Given the description of an element on the screen output the (x, y) to click on. 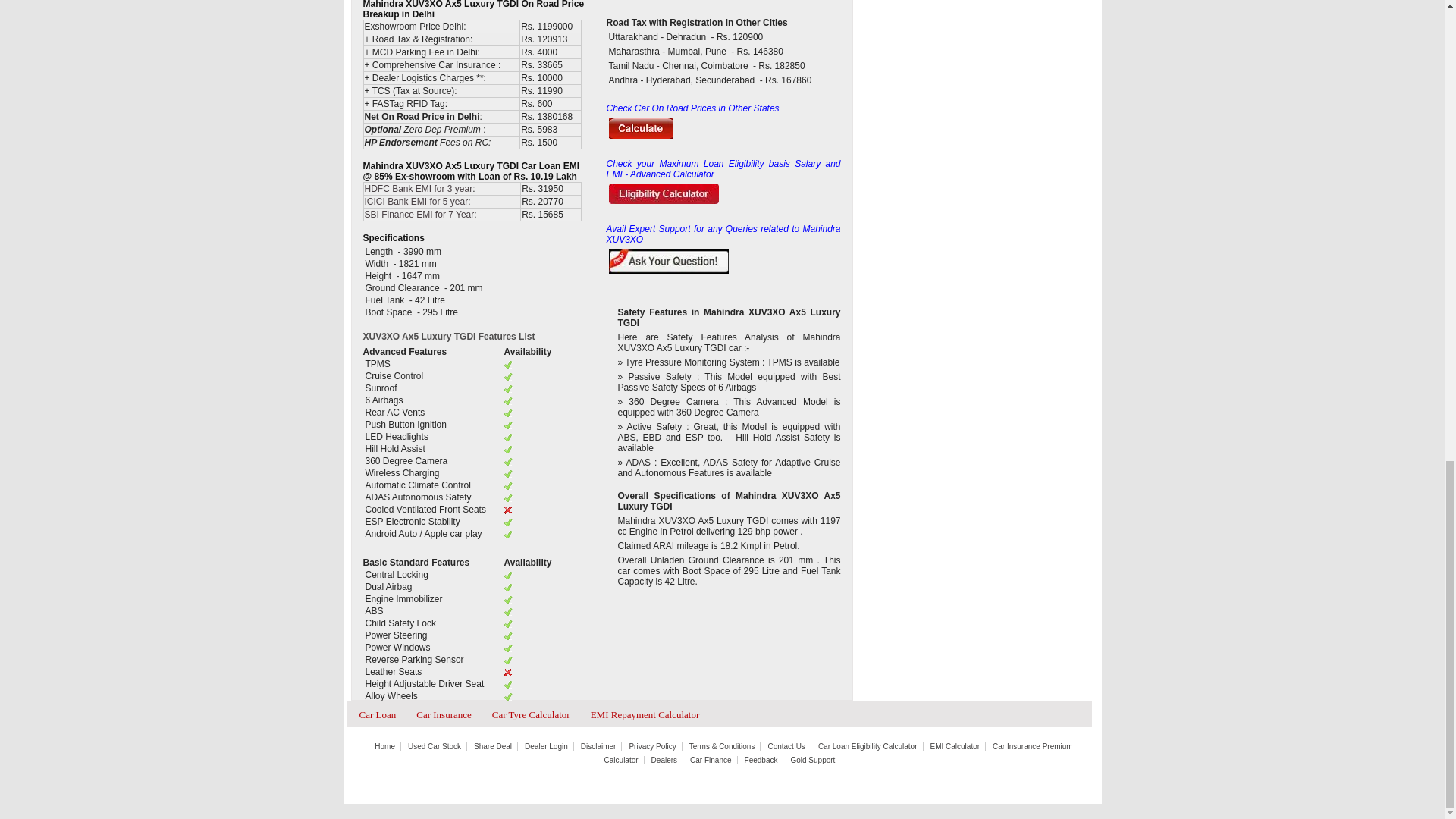
Width (377, 263)
Ground Clearance (403, 287)
Height (379, 276)
Fuel Tank (385, 299)
HDFC Bank EMI for 3 year (417, 188)
ICICI Bank EMI for 5 year (415, 201)
SBI Finance EMI for 7 Year (419, 214)
Length (379, 251)
